Given the description of an element on the screen output the (x, y) to click on. 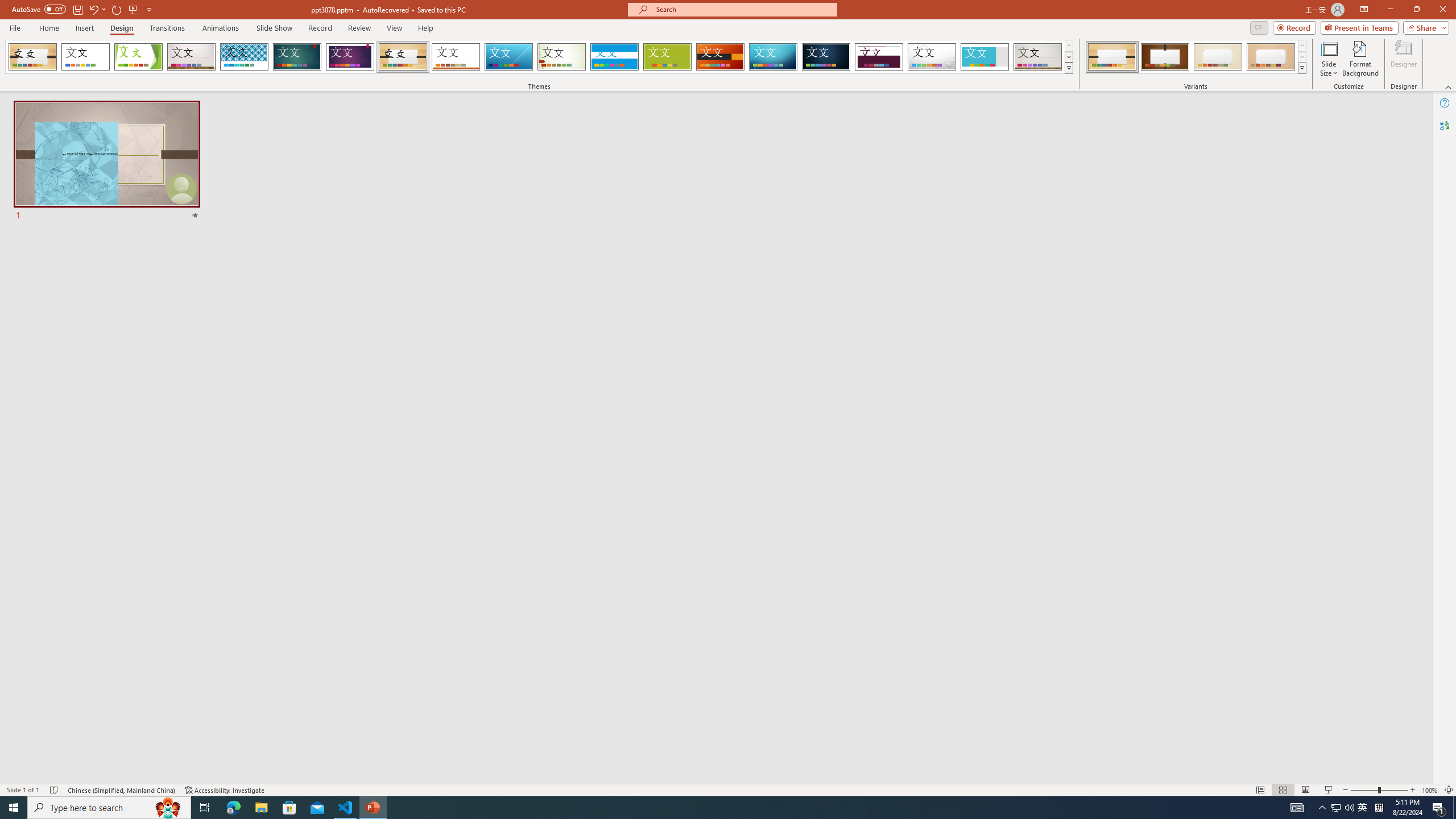
AutomationID: ThemeVariantsGallery (1195, 56)
